Given the description of an element on the screen output the (x, y) to click on. 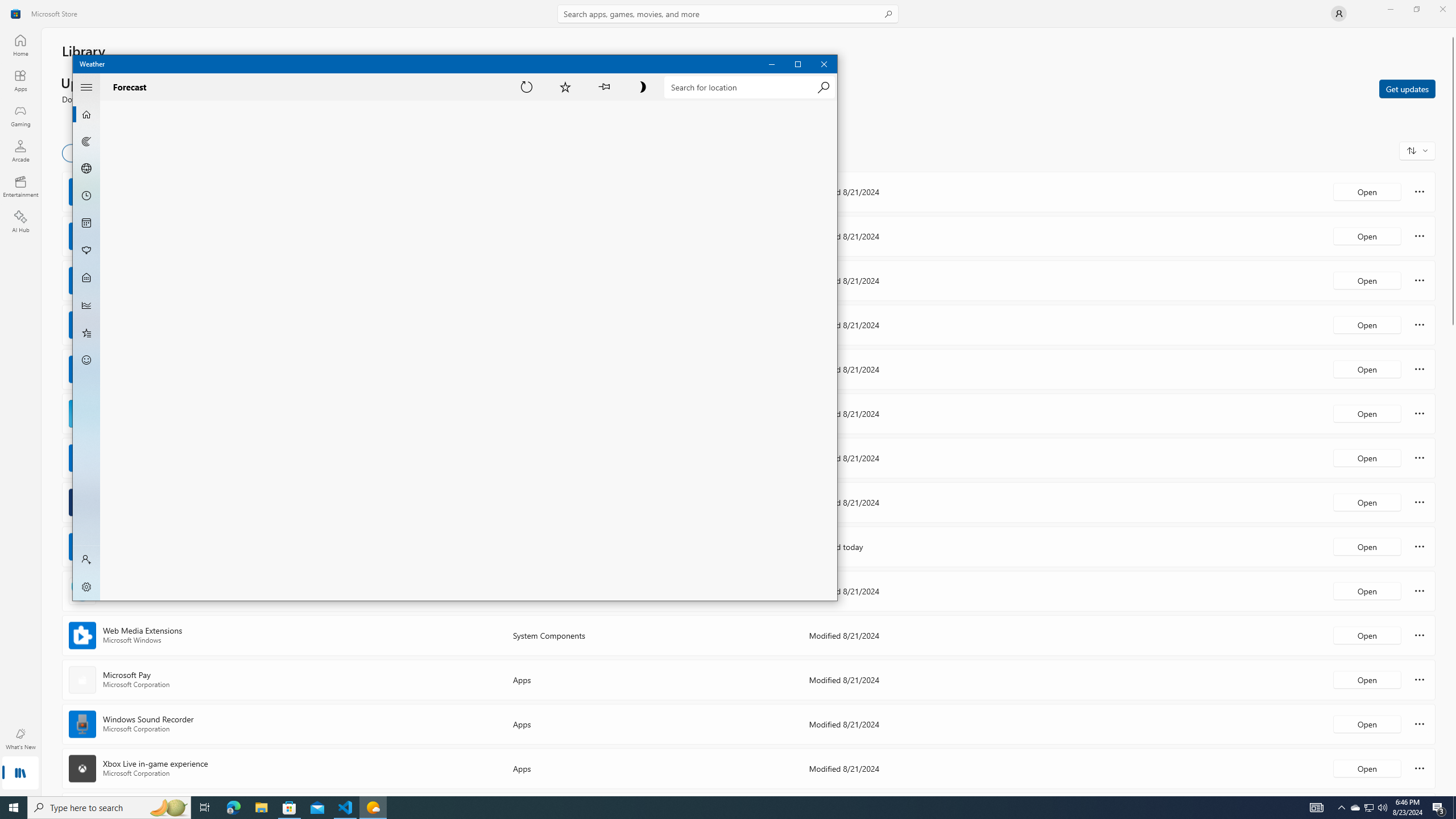
AI Hub (20, 221)
Get updates (1406, 88)
Restore Microsoft Store (1416, 9)
Sort and filter (1417, 149)
Notification Chevron (1341, 807)
Entertainment (20, 185)
Library (20, 773)
User Promoted Notification Area (1368, 807)
Running applications (717, 807)
Vertical Small Increase (1452, 792)
Microsoft Store - 1 running window (289, 807)
Show desktop (1454, 807)
